Given the description of an element on the screen output the (x, y) to click on. 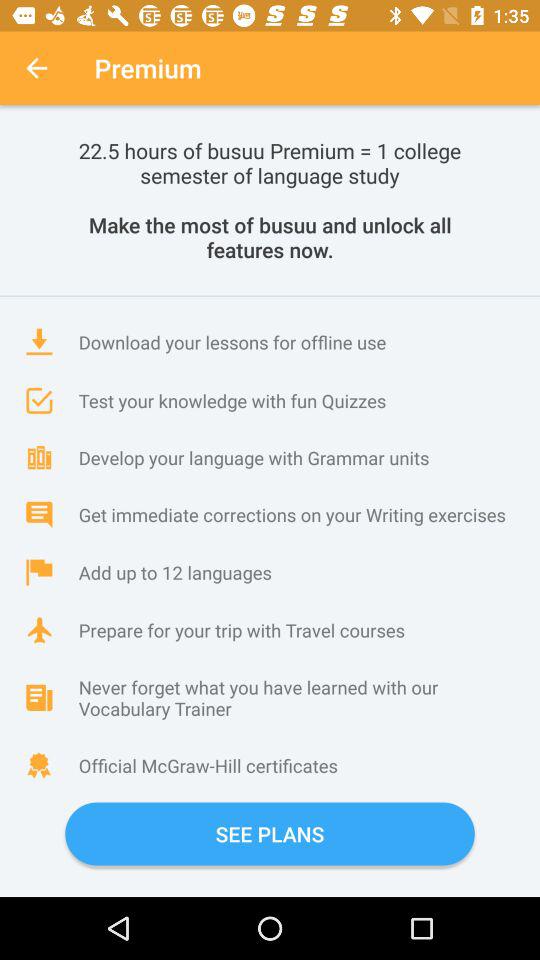
turn off the app next to the premium item (36, 68)
